Given the description of an element on the screen output the (x, y) to click on. 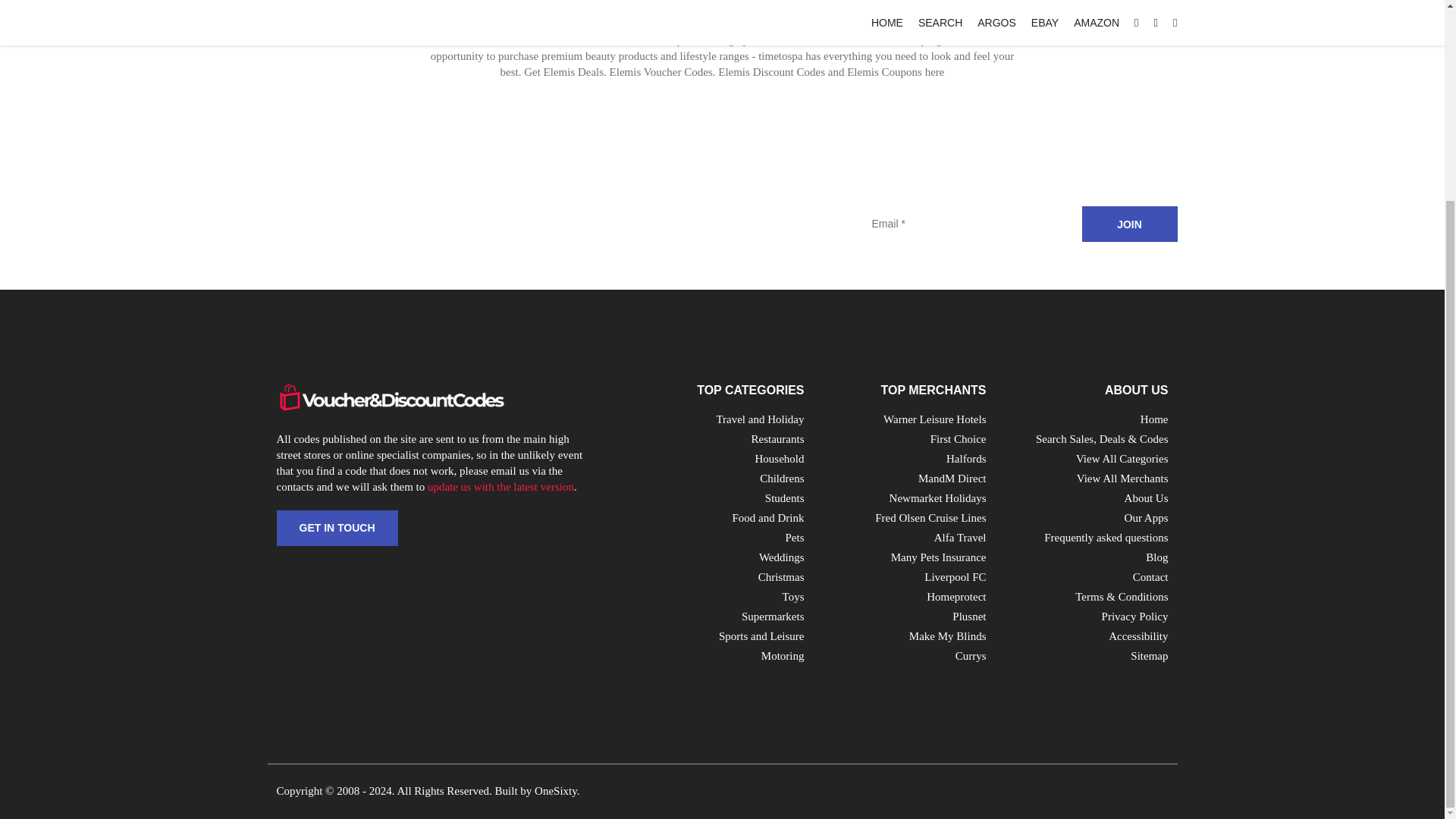
Join (1128, 223)
Travel and Holiday (759, 419)
Childrens (781, 478)
Household (780, 458)
Voucher and Discount Codes (389, 397)
update us with the latest version (500, 486)
GET IN TOUCH (336, 528)
Join (1128, 223)
Students (785, 498)
Food and Drink (768, 517)
Restaurants (778, 439)
